Given the description of an element on the screen output the (x, y) to click on. 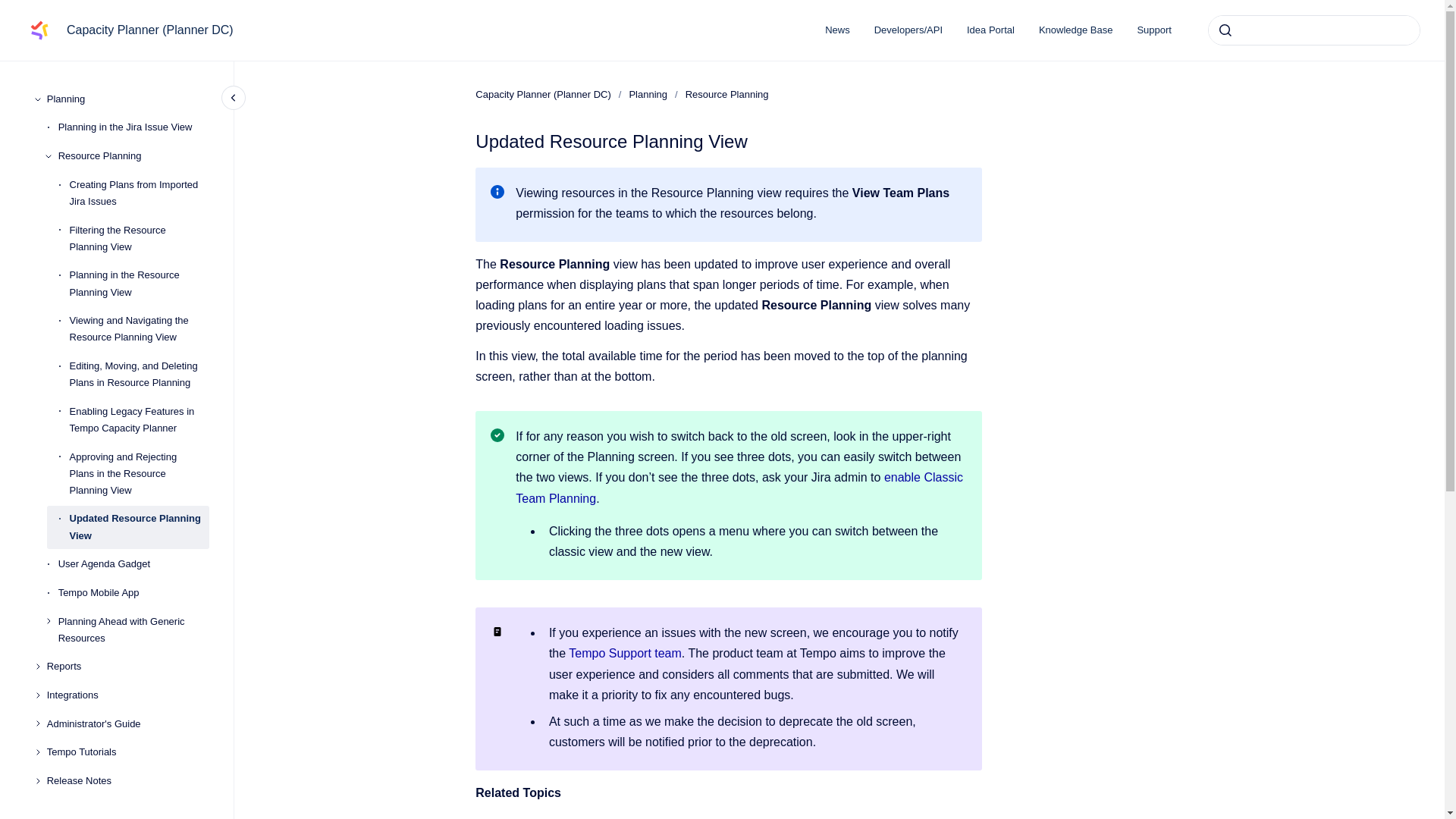
Approving and Rejecting Plans in the Resource Planning View (139, 473)
Viewing and Navigating the Resource Planning View (139, 329)
Release Notes (127, 780)
Integrations (127, 695)
Enabling Legacy Features in Tempo Capacity Planner (139, 420)
Knowledge Base (1075, 29)
Updated Resource Planning View (139, 527)
Planning in the Jira Issue View (133, 127)
Tempo Tutorials (127, 752)
Reports (127, 666)
